Given the description of an element on the screen output the (x, y) to click on. 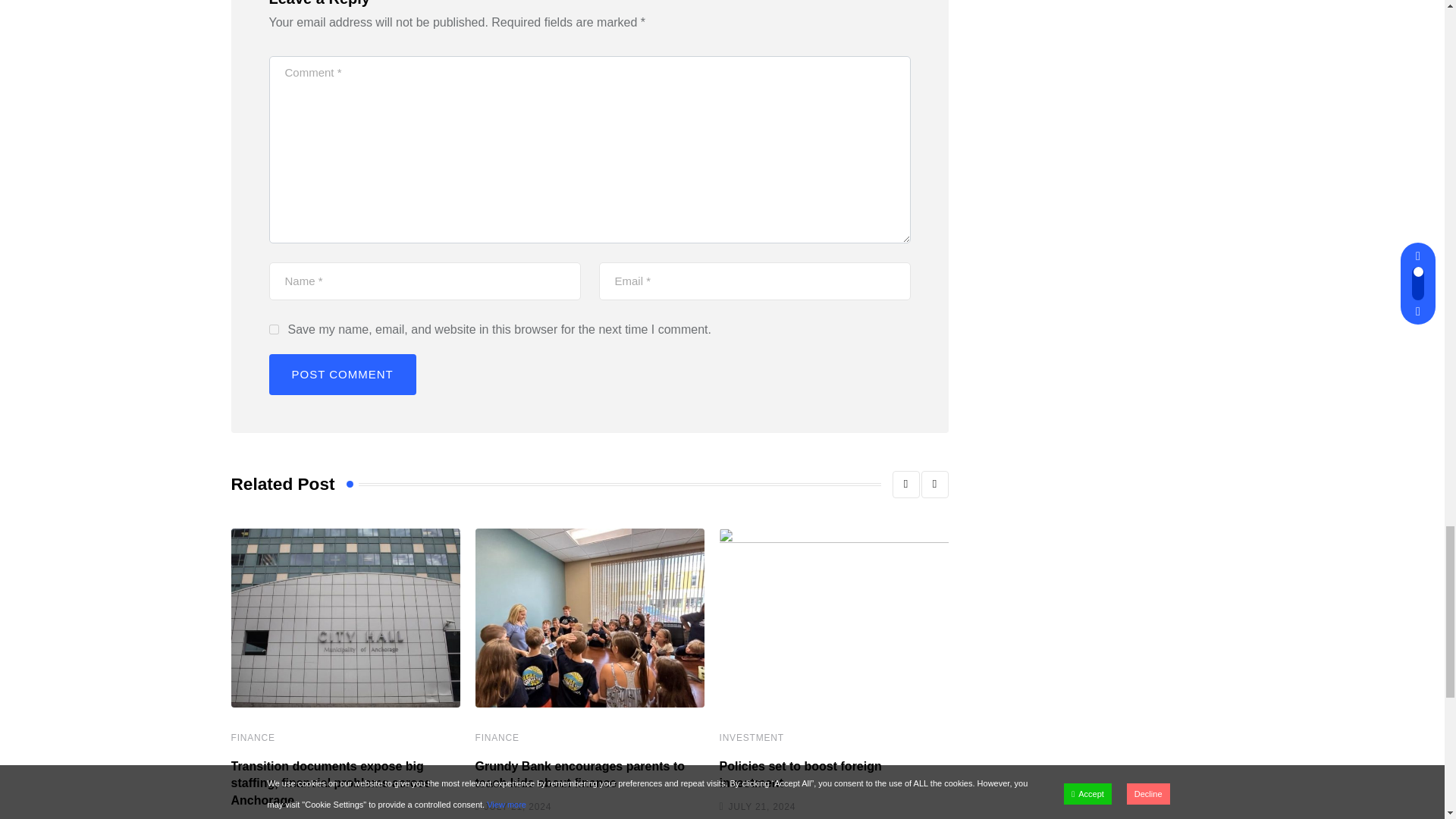
Post Comment (340, 373)
yes (272, 329)
